Given the description of an element on the screen output the (x, y) to click on. 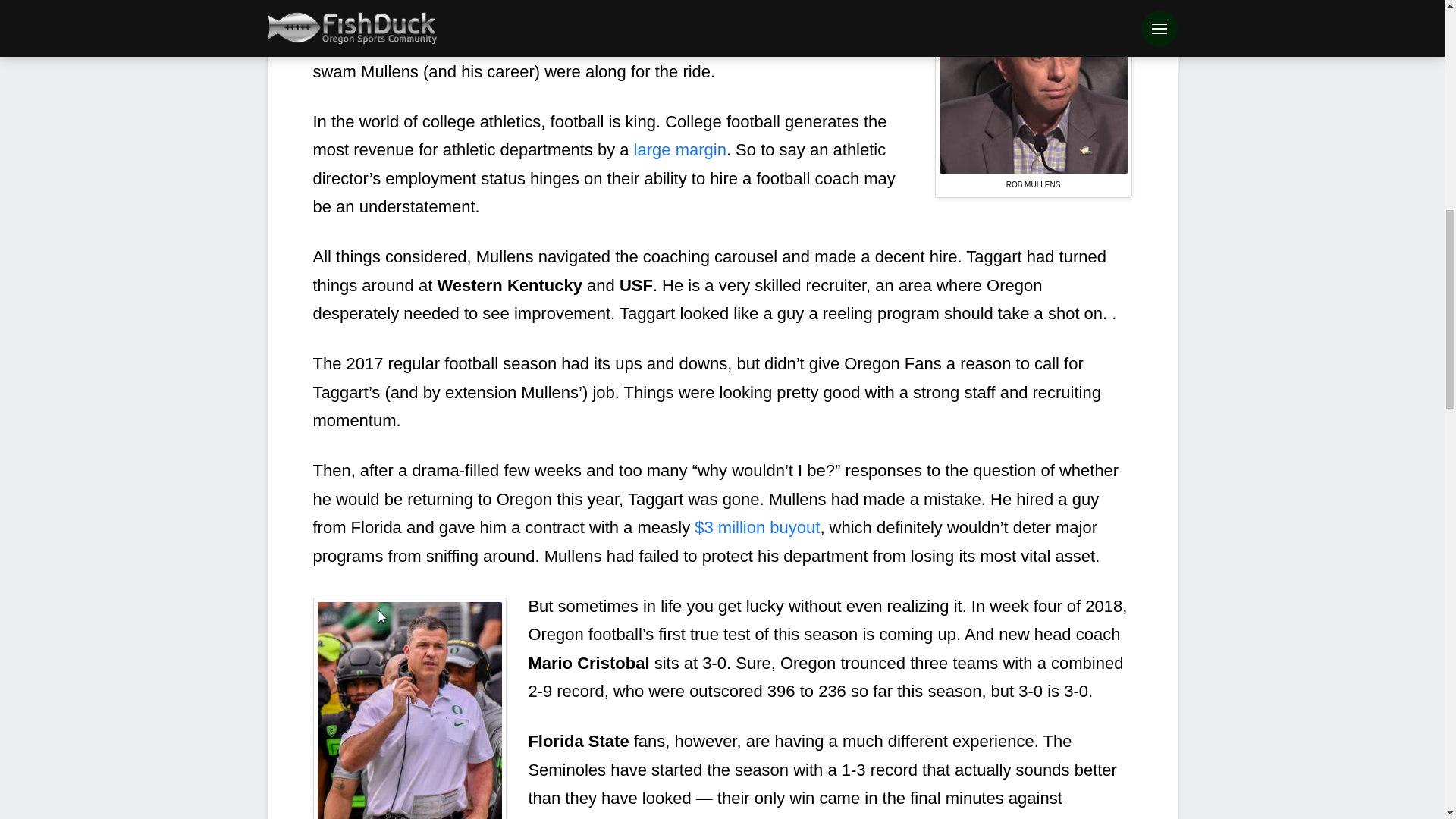
large margin (679, 149)
